Given the description of an element on the screen output the (x, y) to click on. 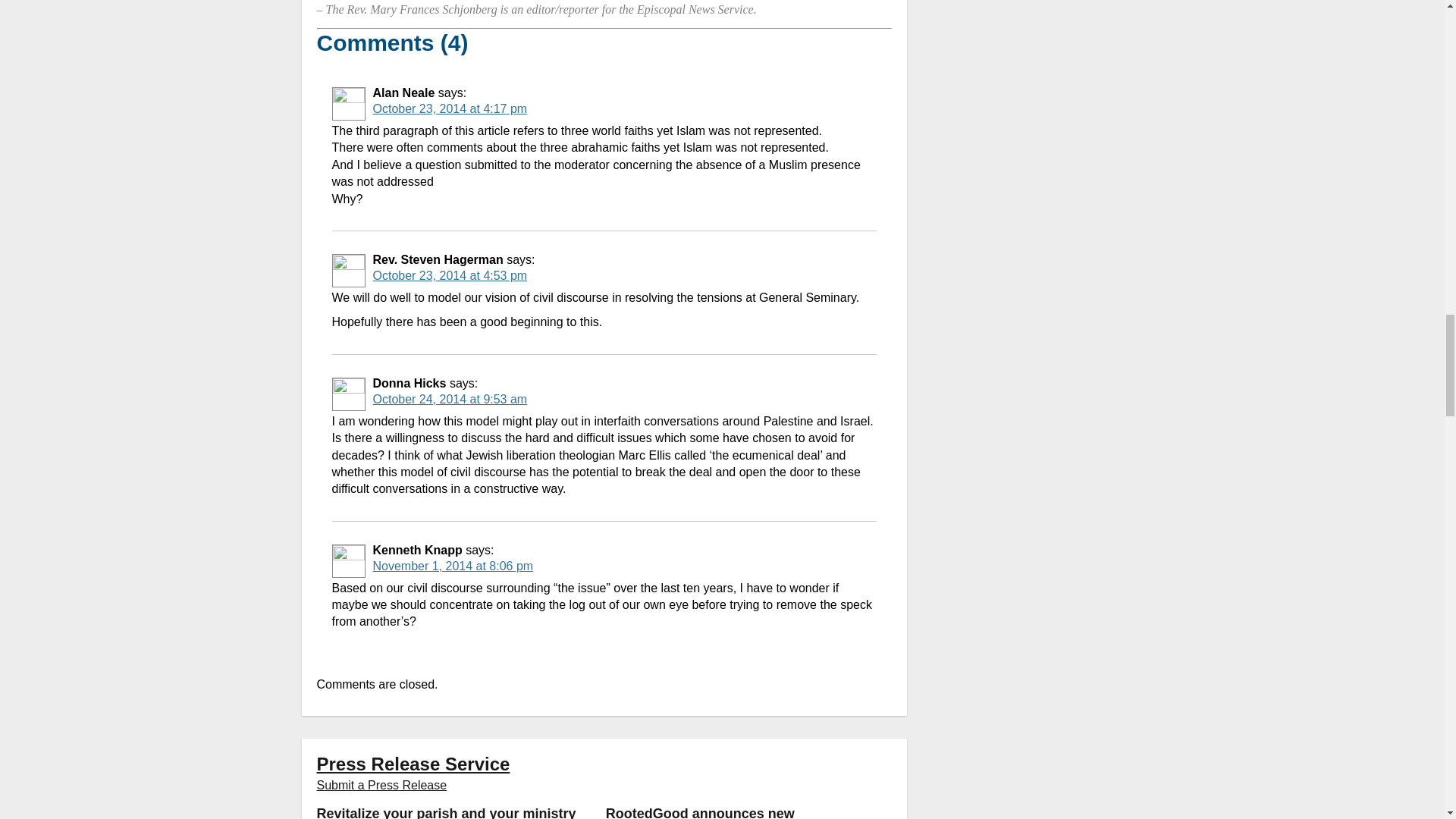
November 1, 2014 at 8:06 pm (453, 565)
October 24, 2014 at 9:53 am (449, 399)
October 23, 2014 at 4:17 pm (449, 108)
Revitalize your parish and your ministry (450, 809)
Press Release Service (414, 763)
Submit a Press Release (381, 784)
October 23, 2014 at 4:53 pm (449, 275)
